Given the description of an element on the screen output the (x, y) to click on. 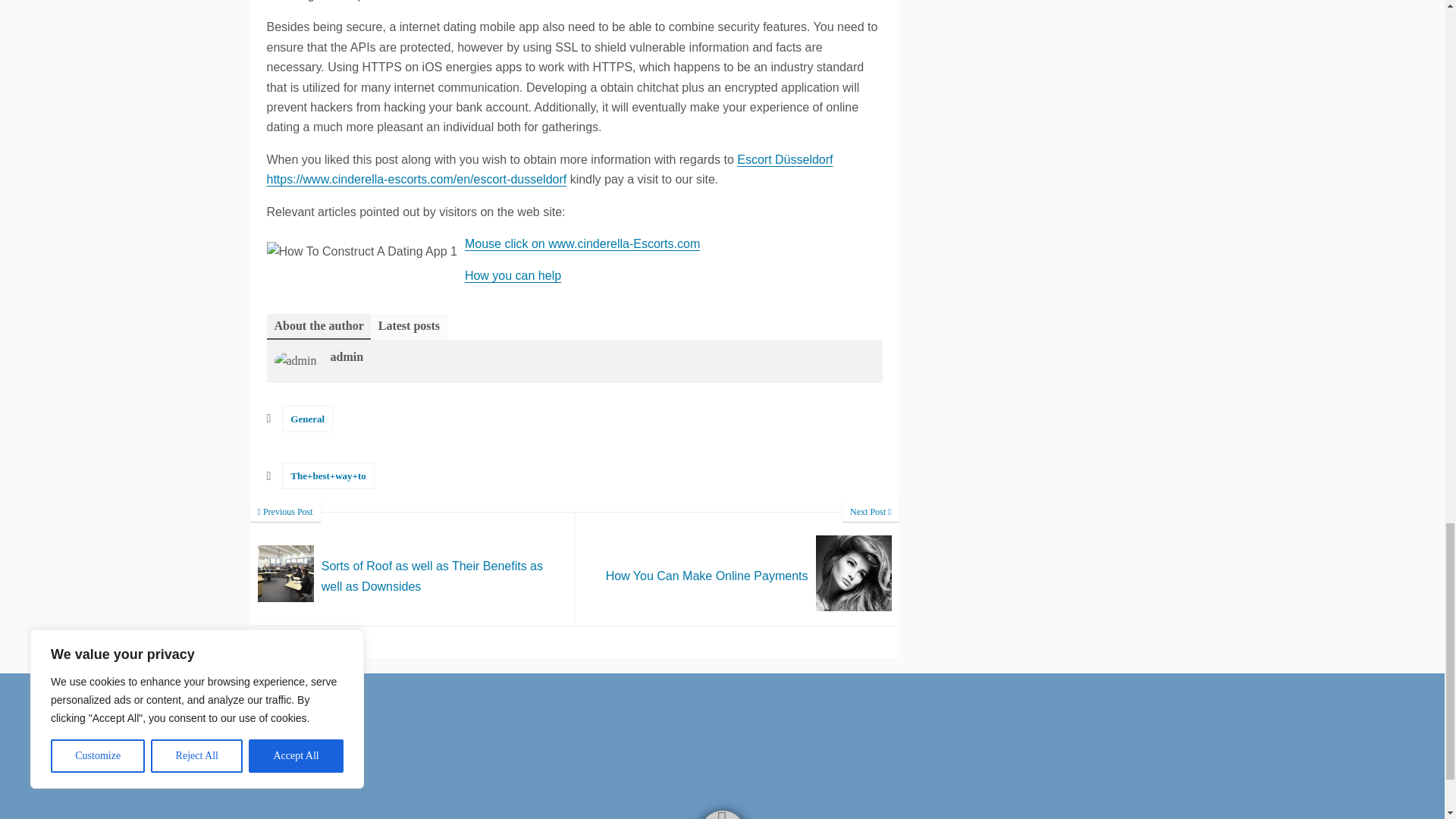
How You Can Make Online Payments (737, 568)
Sorts of Roof as well as Their Benefits as well as Downsides (412, 568)
Mouse click on www.cinderella-Escorts.com (582, 243)
General (737, 568)
How you can help (307, 418)
